Given the description of an element on the screen output the (x, y) to click on. 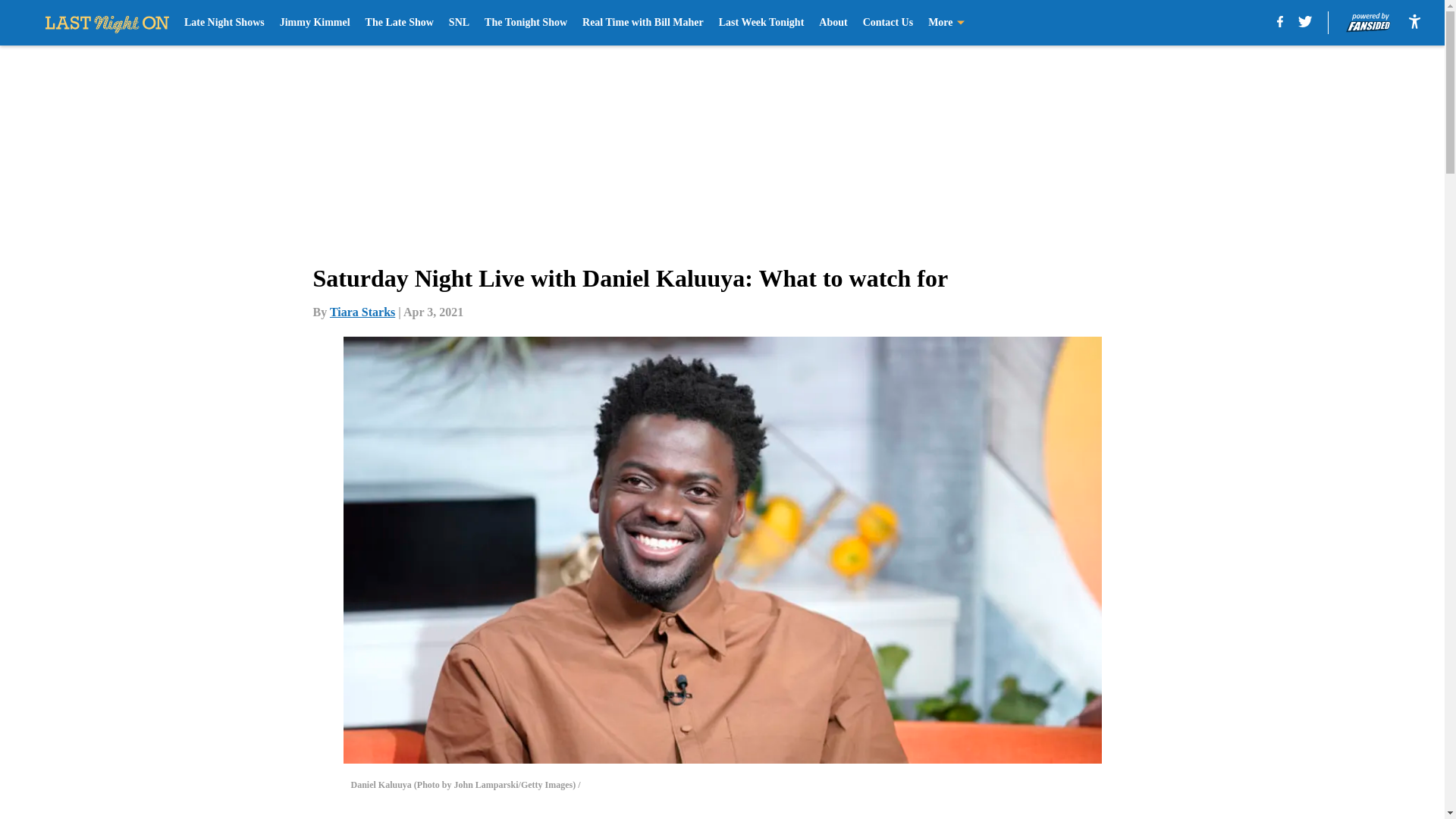
Late Night Shows (224, 22)
The Tonight Show (525, 22)
Jimmy Kimmel (314, 22)
Contact Us (888, 22)
Tiara Starks (362, 311)
Real Time with Bill Maher (642, 22)
The Late Show (399, 22)
More (945, 22)
Last Week Tonight (762, 22)
About (832, 22)
SNL (458, 22)
